Given the description of an element on the screen output the (x, y) to click on. 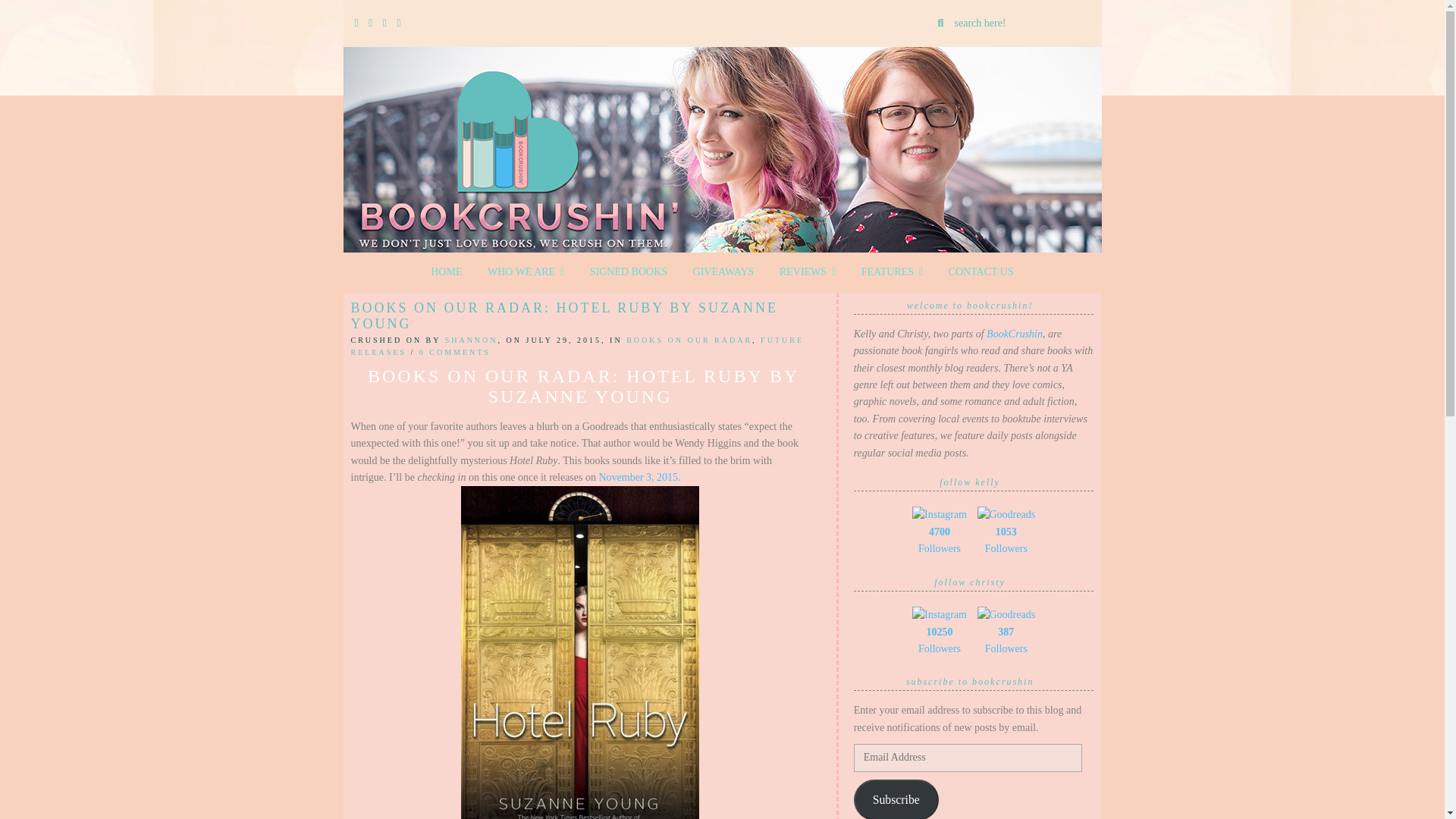
FEATURES   (892, 271)
BOOKS ON OUR RADAR (689, 339)
CONTACT US (981, 271)
REVIEWS   (807, 271)
View all posts in Future releases (576, 345)
GIVEAWAYS (723, 271)
HOME (446, 271)
WHO WE ARE   (525, 271)
SIGNED BOOKS (628, 271)
FUTURE RELEASES (576, 345)
SHANNON (471, 339)
0 COMMENTS (454, 352)
November 3, 2015.  (640, 477)
View all posts in Books On Our Radar (689, 339)
